Given the description of an element on the screen output the (x, y) to click on. 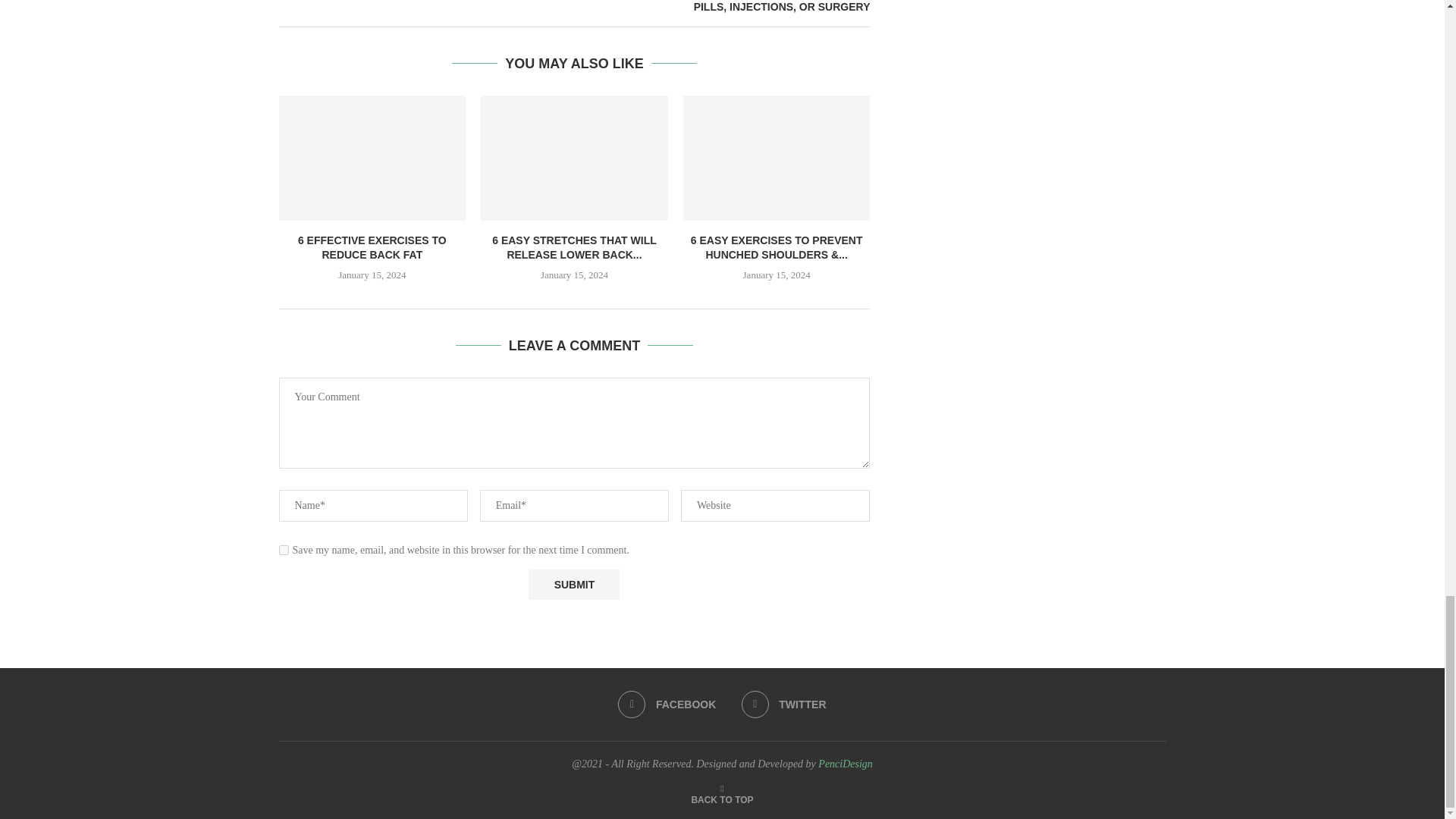
Submit (574, 584)
6 EFFECTIVE EXERCISES TO REDUCE BACK FAT (372, 247)
6 Effective Exercises To Reduce Back Fat (372, 157)
6 EASY STRETCHES THAT WILL RELEASE LOWER BACK... (574, 247)
yes (283, 550)
